Given the description of an element on the screen output the (x, y) to click on. 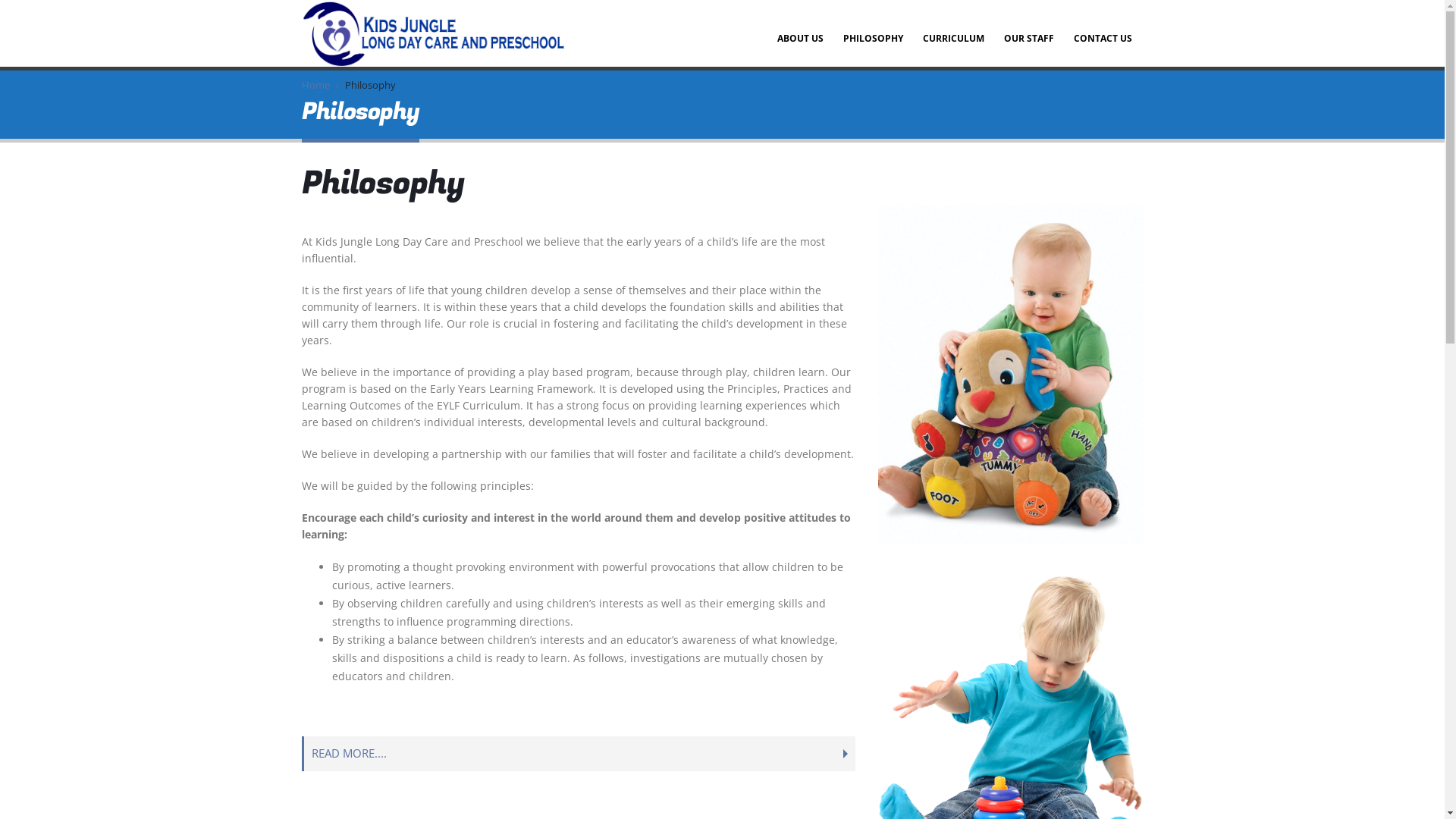
PHILOSOPHY Element type: text (873, 33)
Home Element type: text (315, 85)
OUR STAFF Element type: text (1028, 33)
ABOUT US Element type: text (800, 33)
CURRICULUM Element type: text (953, 33)
81unp1McvML._SL1500_ Element type: hover (1010, 373)
CONTACT US Element type: text (1102, 33)
Kids Jungle -  Element type: hover (434, 33)
